Given the description of an element on the screen output the (x, y) to click on. 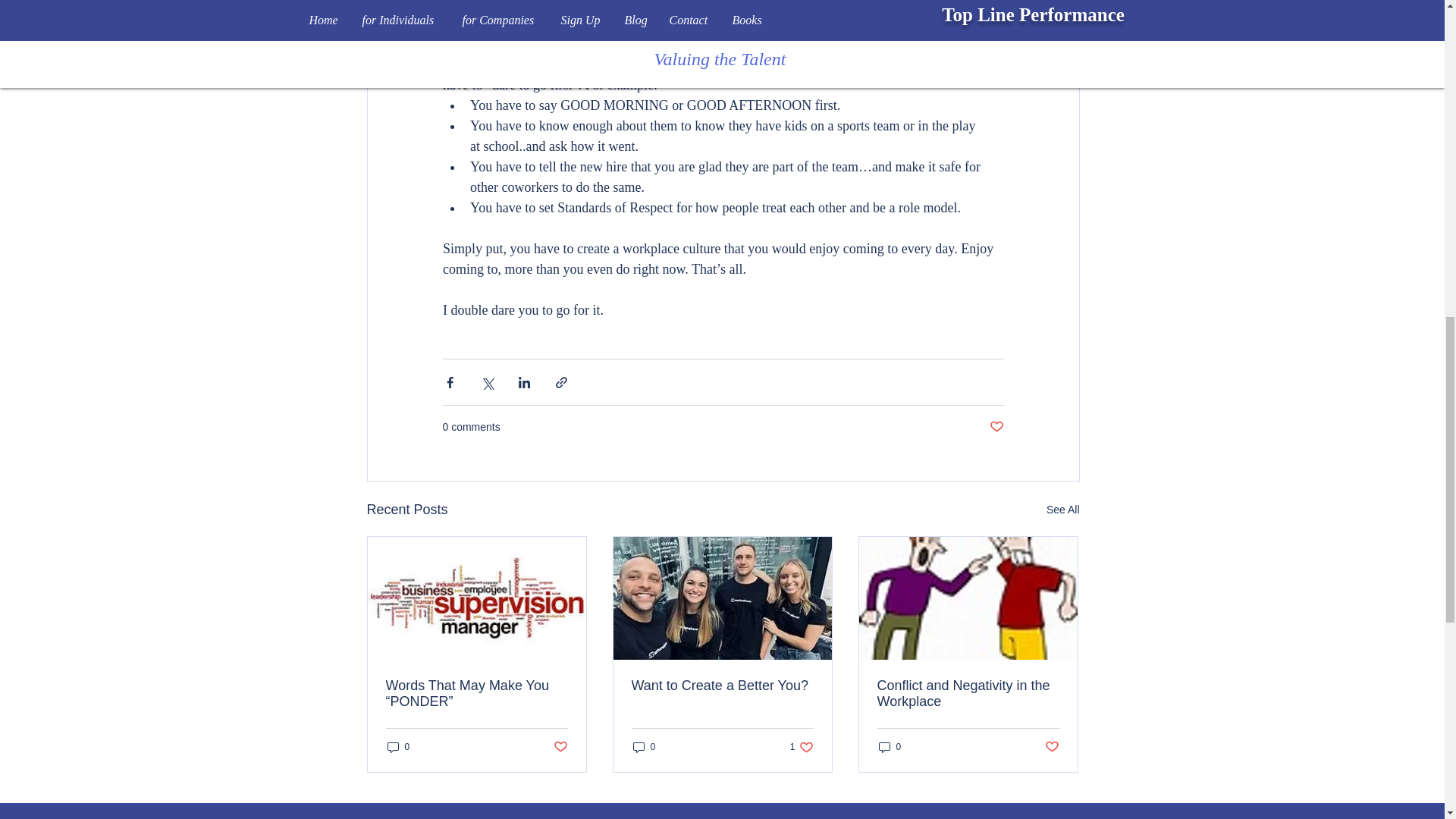
See All (1063, 509)
Post not marked as liked (801, 747)
Conflict and Negativity in the Workplace (995, 426)
0 (967, 694)
0 (889, 747)
Want to Create a Better You? (643, 747)
Post not marked as liked (721, 685)
0 (560, 747)
Post not marked as liked (397, 747)
